Given the description of an element on the screen output the (x, y) to click on. 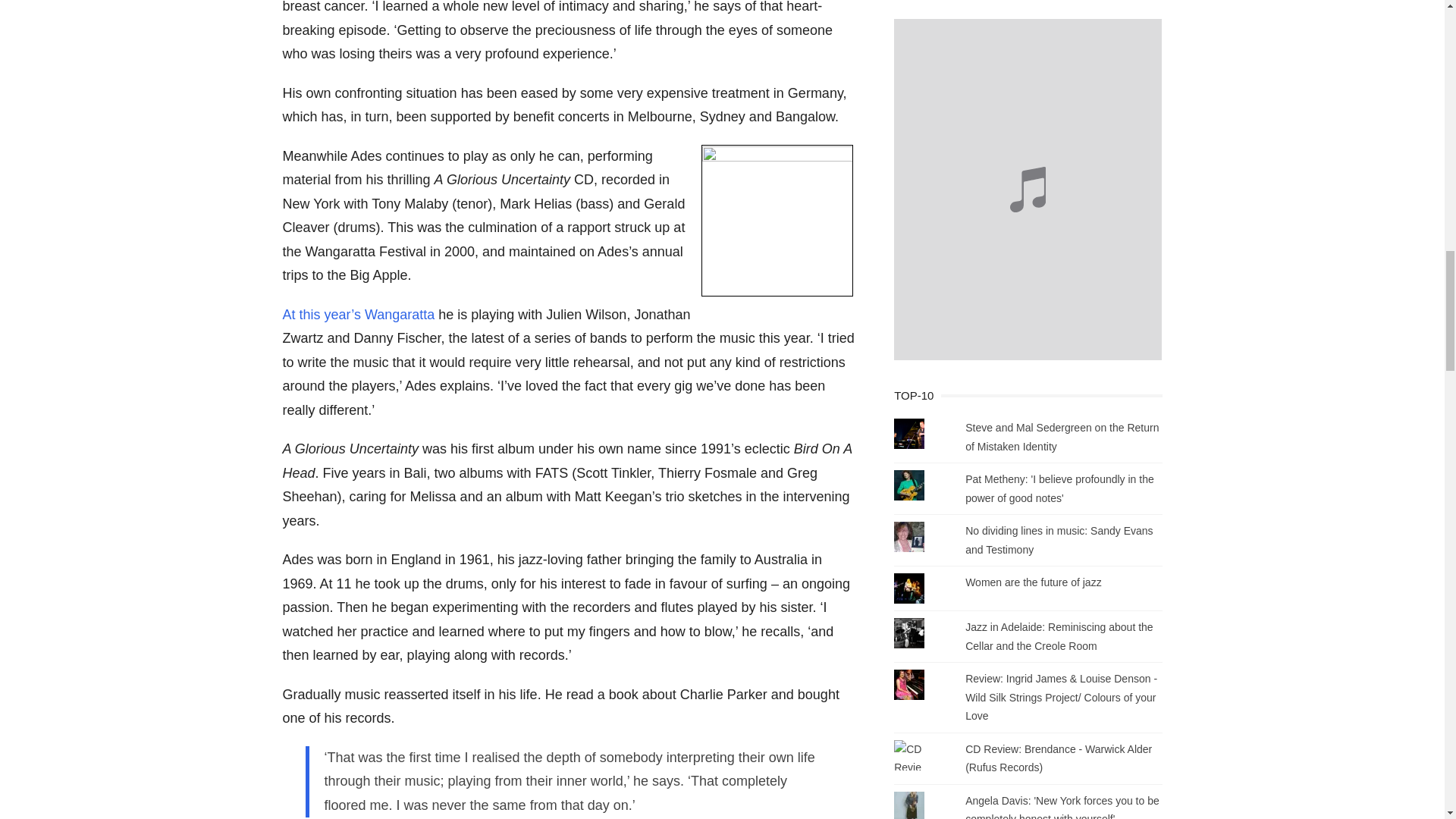
David Ades Quartet at Wangaratta (357, 314)
Glorious Uncertainty cover (777, 220)
No dividing lines in music: Sandy Evans and Testimony (1059, 540)
Women are the future of jazz (1033, 582)
Steve and Mal Sedergreen on the Return of Mistaken Identity (1061, 436)
